Given the description of an element on the screen output the (x, y) to click on. 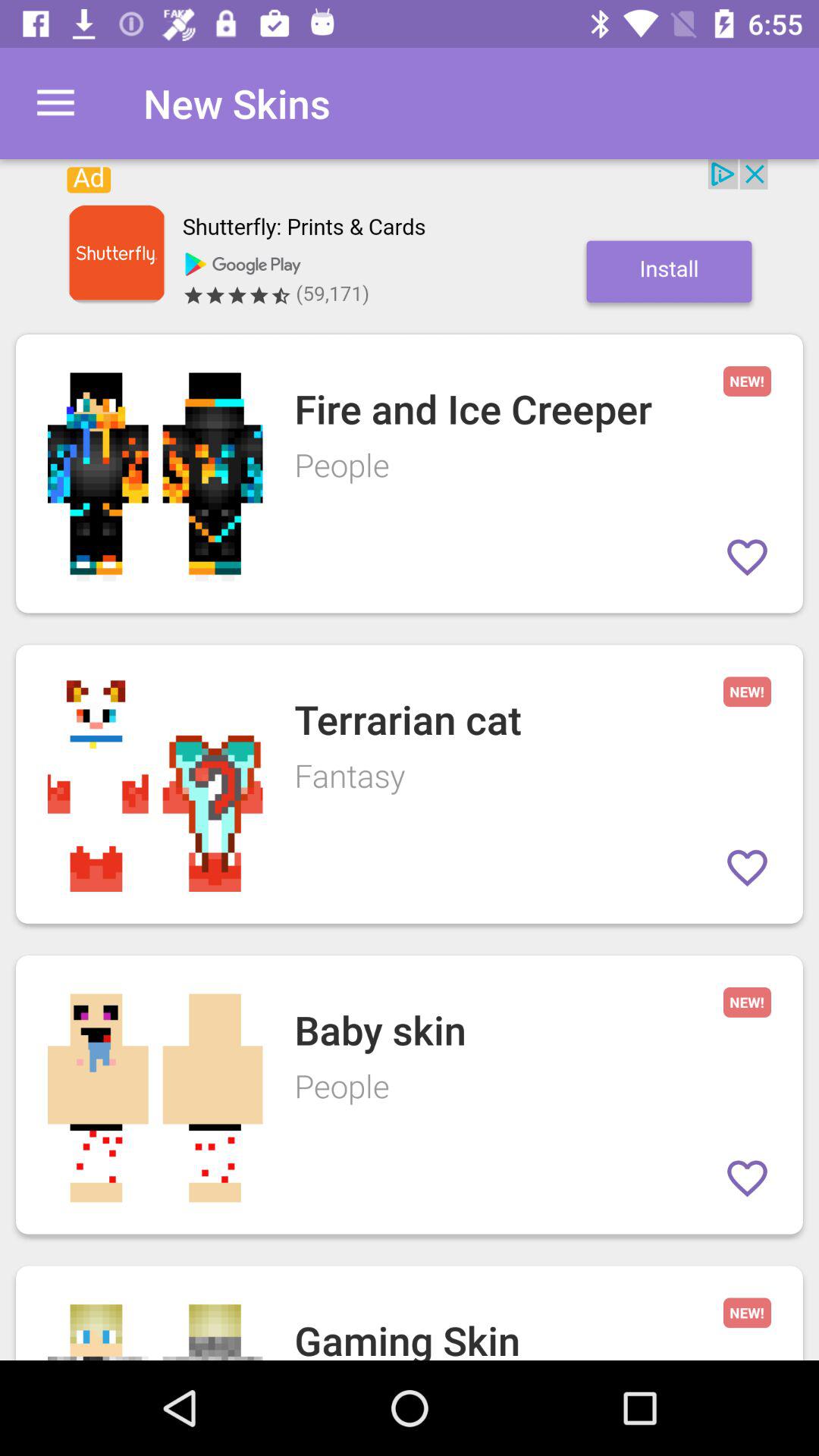
open the advertisement banner (409, 238)
